Given the description of an element on the screen output the (x, y) to click on. 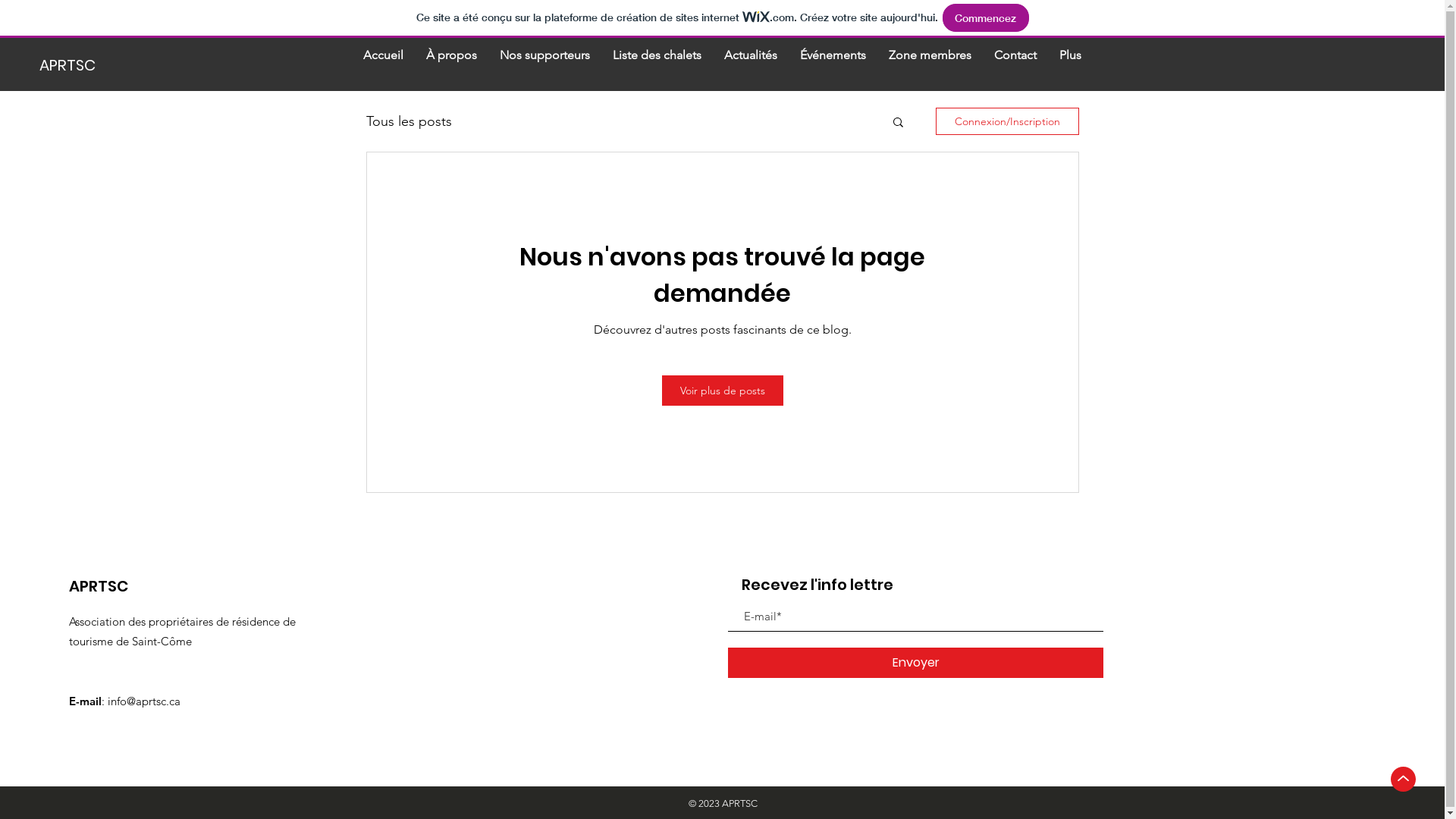
Liste des chalets Element type: text (656, 64)
info@aprtsc.ca Element type: text (143, 700)
Voir plus de posts Element type: text (721, 390)
Connexion/Inscription Element type: text (1007, 120)
Contact Element type: text (1015, 64)
Nos supporteurs Element type: text (544, 64)
Accueil Element type: text (382, 64)
Envoyer Element type: text (915, 662)
Tous les posts Element type: text (408, 120)
Zone membres Element type: text (929, 64)
APRTSC Element type: text (90, 64)
